Given the description of an element on the screen output the (x, y) to click on. 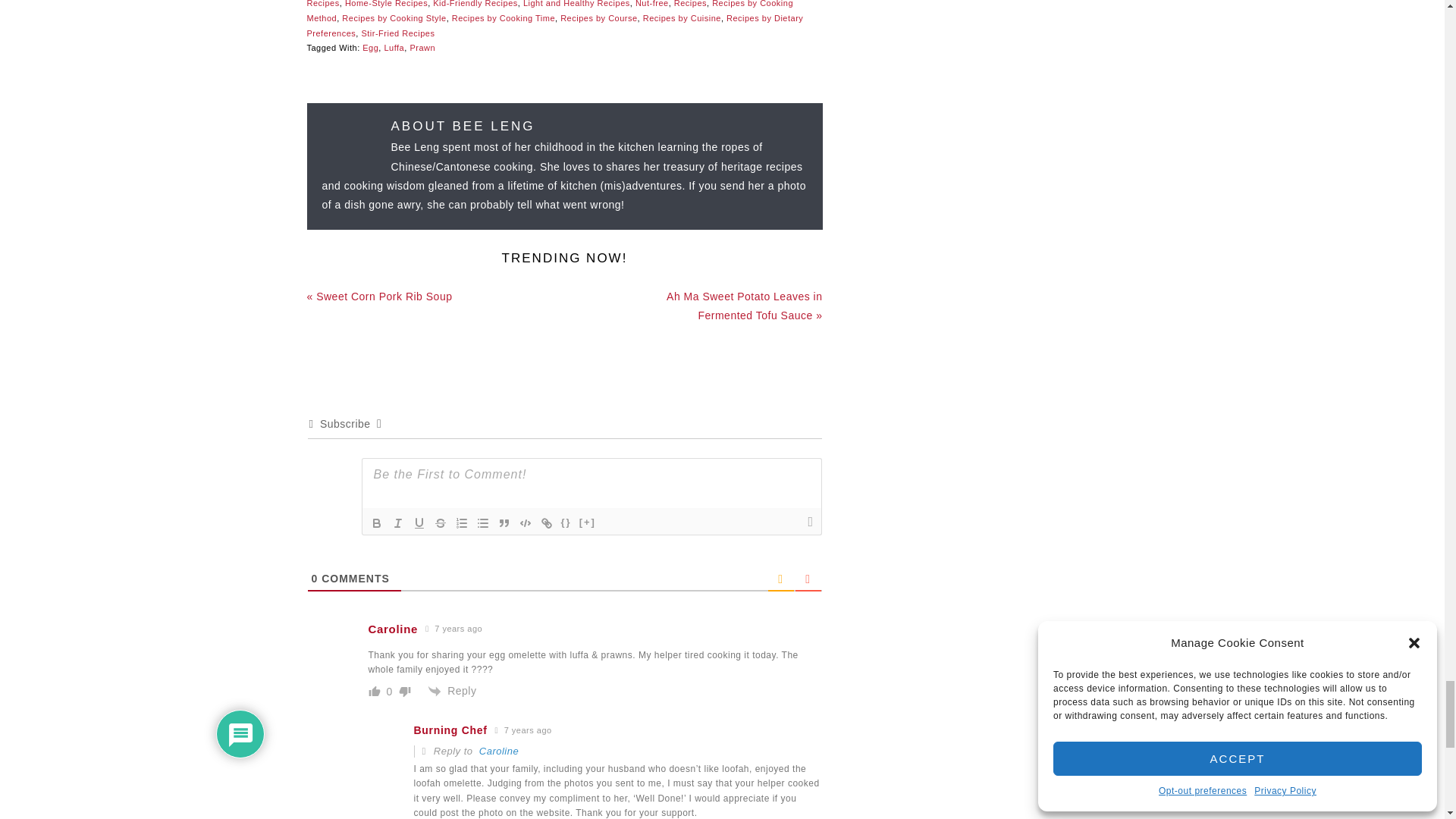
Code Block (524, 523)
Ordered List (460, 523)
Italic (397, 523)
Bold (376, 523)
Source Code (565, 523)
Strike (439, 523)
Blockquote (503, 523)
Unordered List (482, 523)
Link (545, 523)
Spoiler (587, 523)
